Given the description of an element on the screen output the (x, y) to click on. 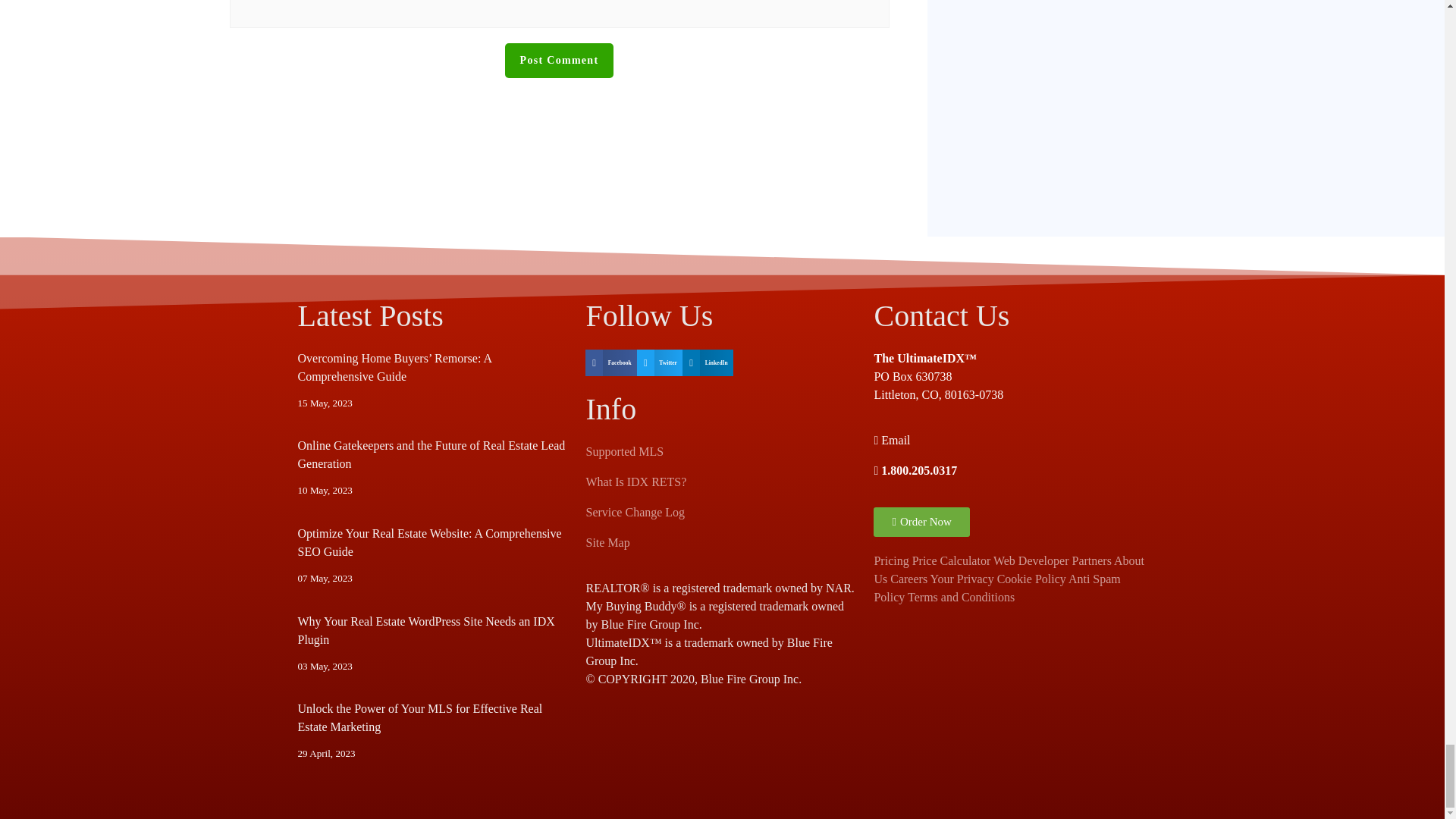
Post Comment (559, 60)
